Given the description of an element on the screen output the (x, y) to click on. 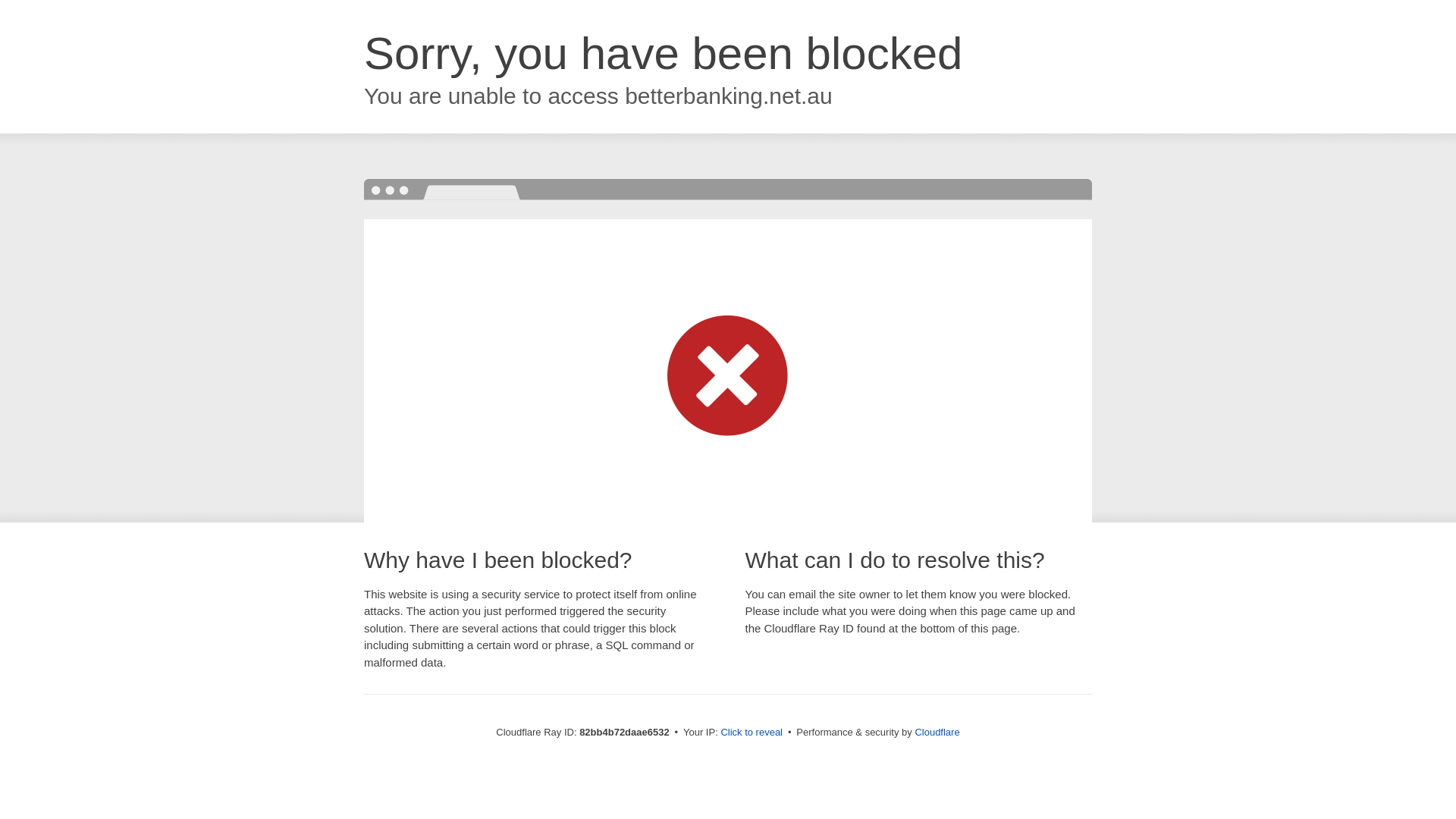
Cloudflare Element type: text (936, 731)
Click to reveal Element type: text (751, 732)
